Given the description of an element on the screen output the (x, y) to click on. 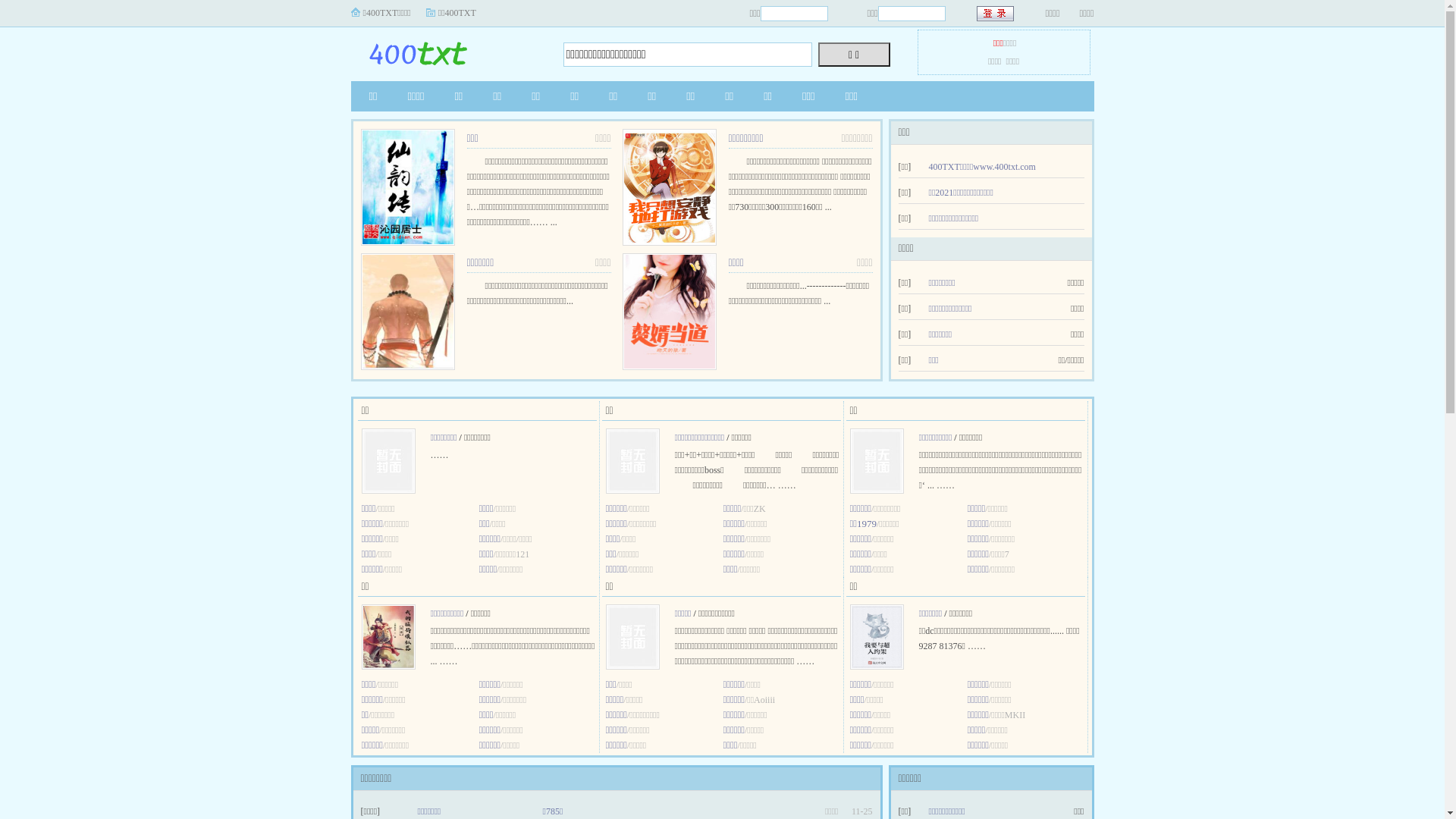
  Element type: text (995, 13)
400TXT Element type: text (444, 49)
